Given the description of an element on the screen output the (x, y) to click on. 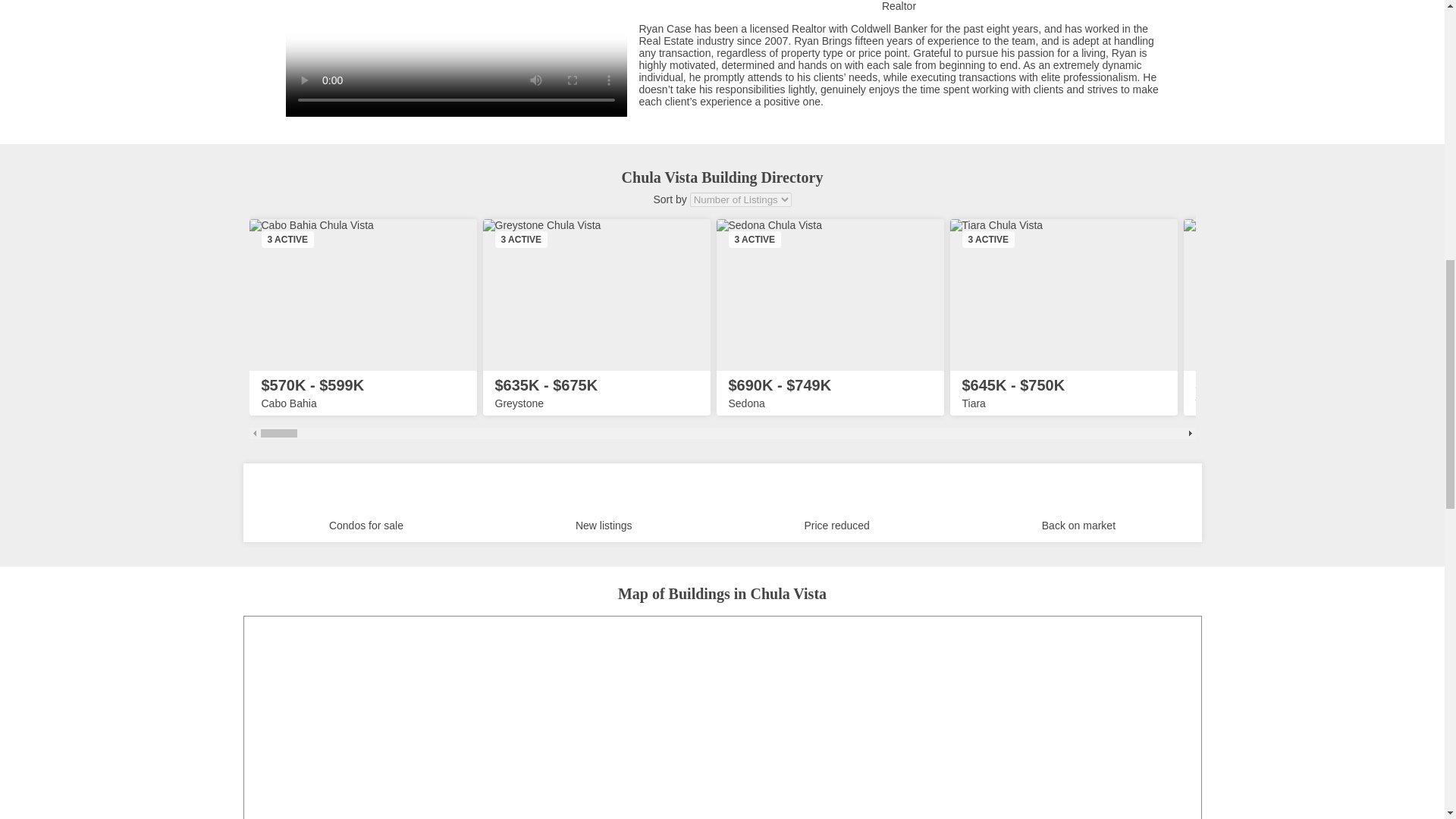
Sedona (829, 295)
Willow Bend (1296, 295)
Cabo Bahia (362, 295)
Greystone (595, 295)
Tiara (1062, 295)
